Given the description of an element on the screen output the (x, y) to click on. 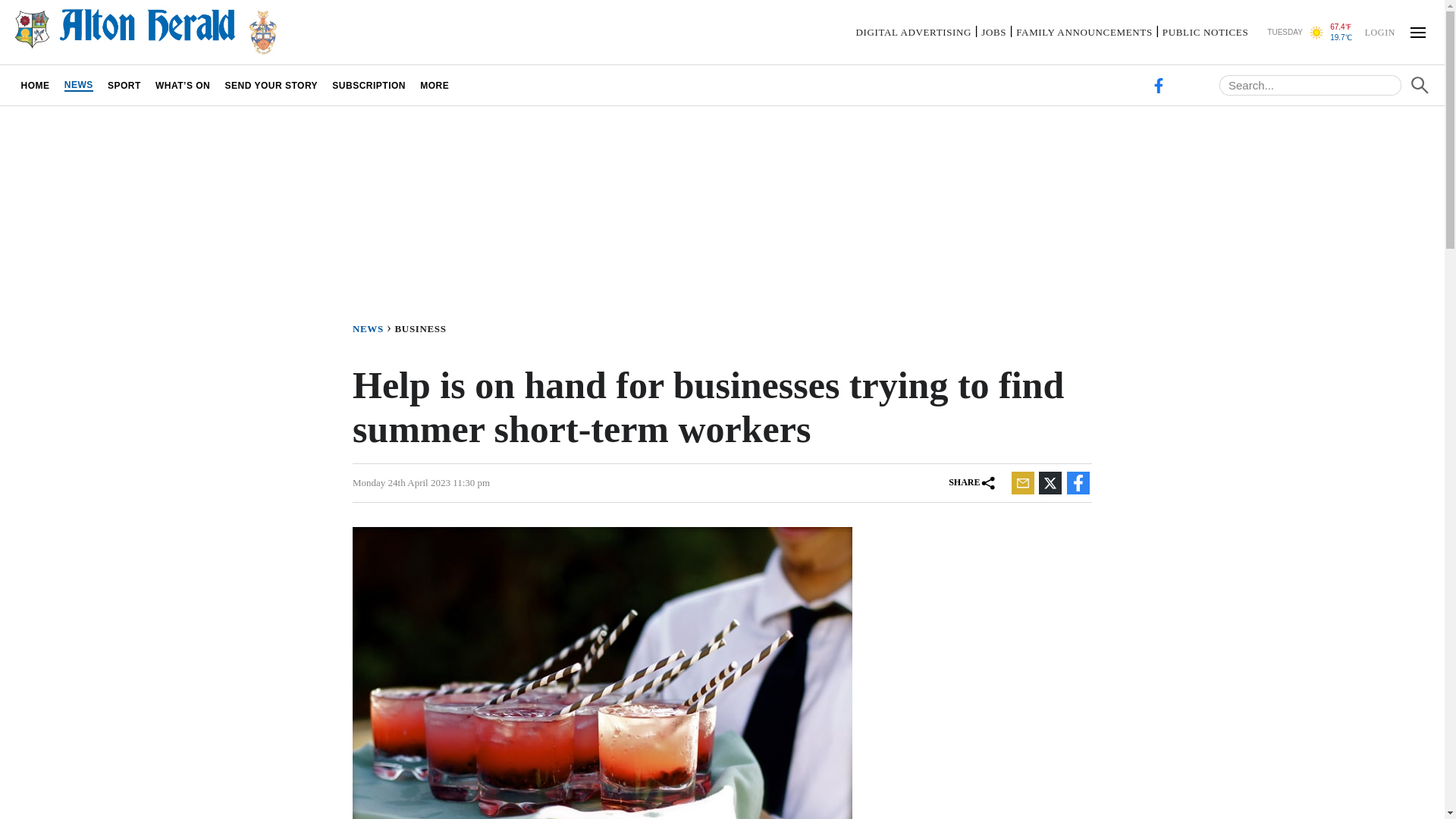
LOGIN (1379, 31)
SPORT (124, 85)
MORE (435, 85)
SUBSCRIPTION (368, 85)
HOME (34, 85)
BUSINESS (423, 328)
NEWS (78, 85)
PUBLIC NOTICES (1204, 32)
NEWS (373, 328)
SEND YOUR STORY (270, 85)
